Given the description of an element on the screen output the (x, y) to click on. 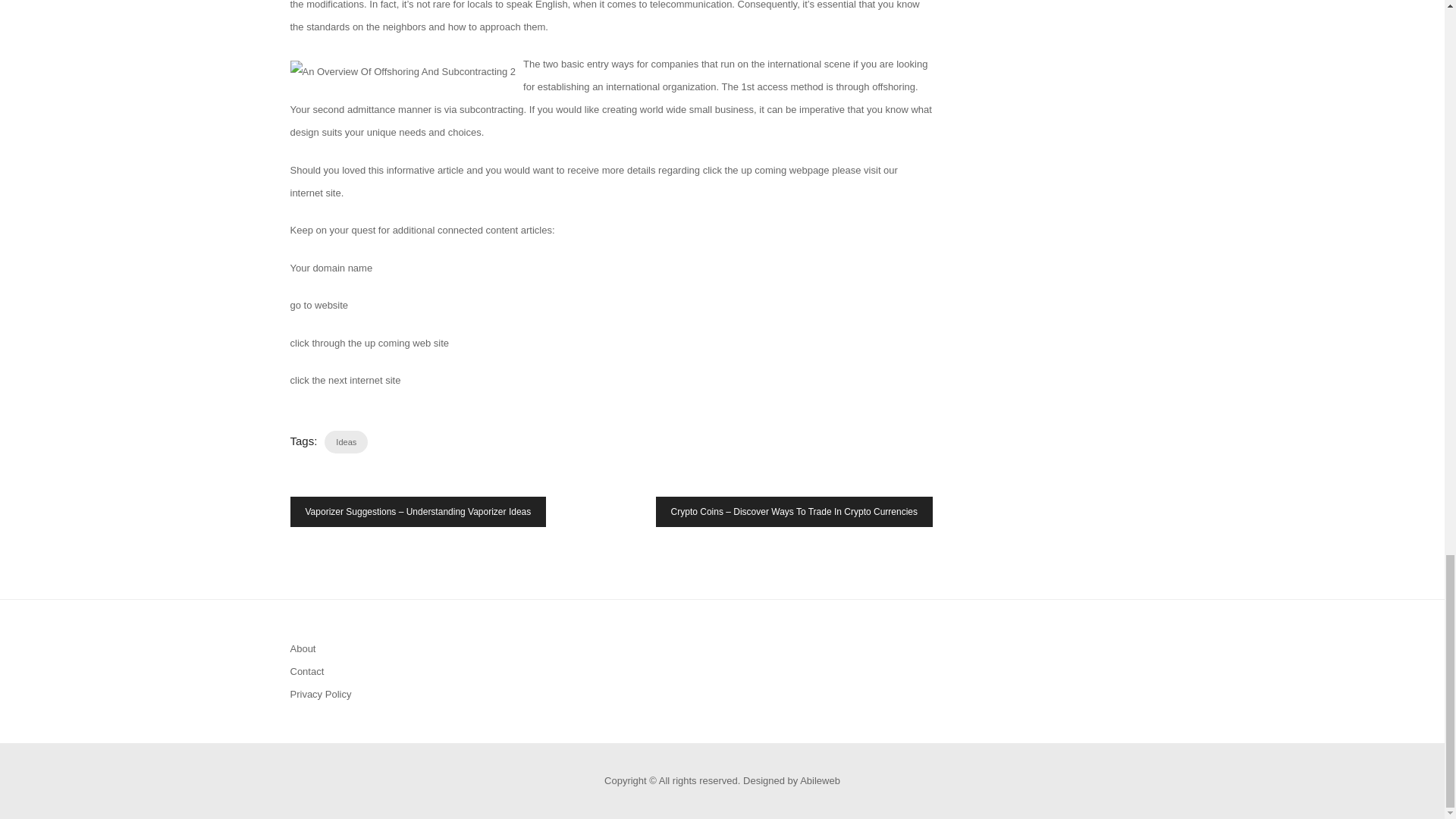
Ideas (346, 441)
go to website (318, 305)
Contact (306, 671)
Privacy Policy (319, 694)
Your domain name (330, 267)
click through the up coming web site (368, 342)
click the next internet site (344, 379)
About (302, 648)
Designed by Abileweb (791, 780)
click the up coming webpage (766, 170)
